Given the description of an element on the screen output the (x, y) to click on. 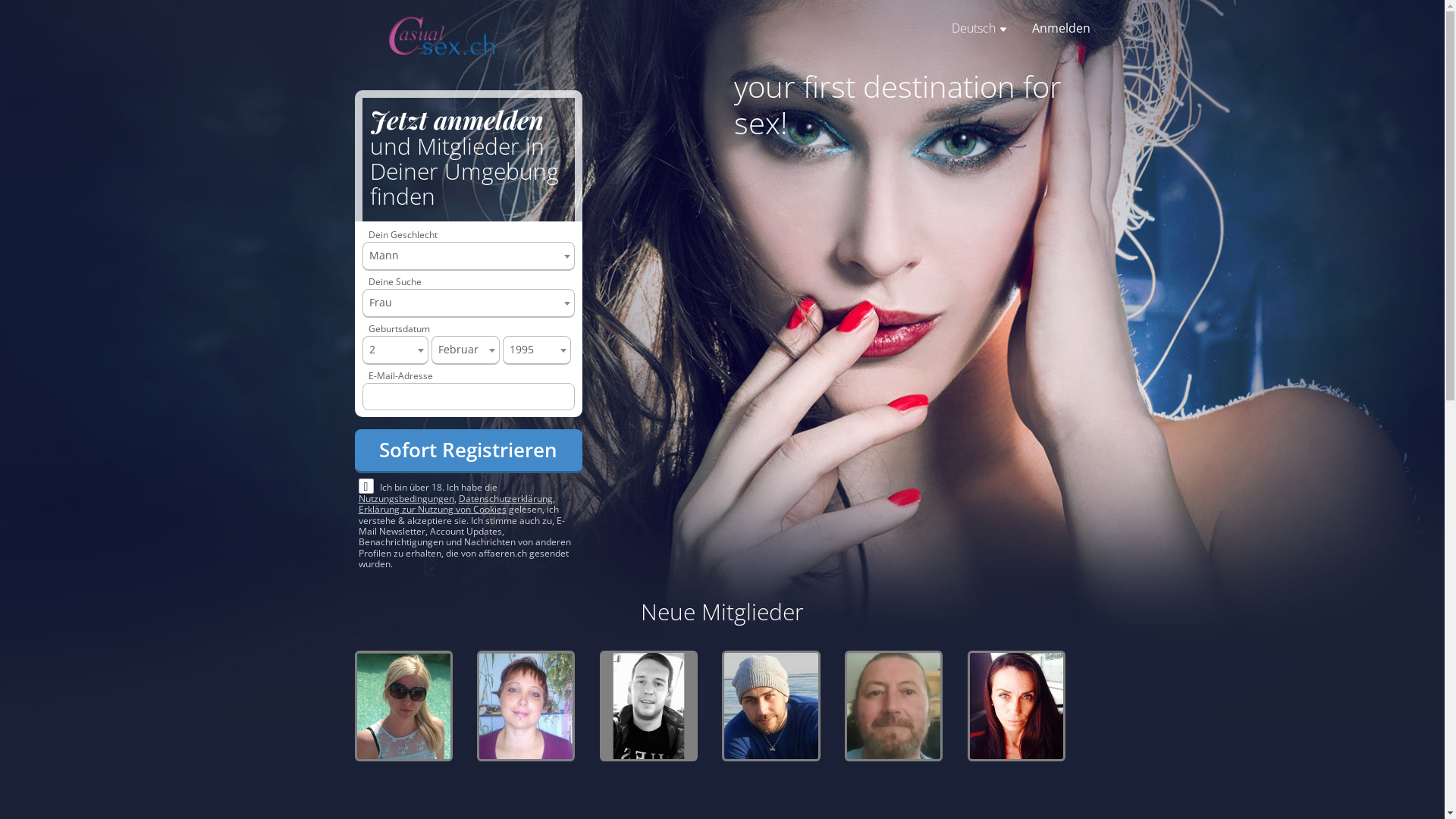
Simon Element type: hover (770, 706)
tschirk1979 Element type: hover (1016, 706)
Deutsch  Element type: text (978, 27)
menthe84 Element type: hover (893, 706)
Anmelden Element type: text (1060, 27)
Bimbam Element type: hover (648, 706)
simonazachova78 Element type: hover (525, 706)
Sofort registrieren Element type: text (468, 451)
pretty_alhassan522 Element type: hover (403, 706)
Nutzungsbedingungen Element type: text (405, 498)
